Given the description of an element on the screen output the (x, y) to click on. 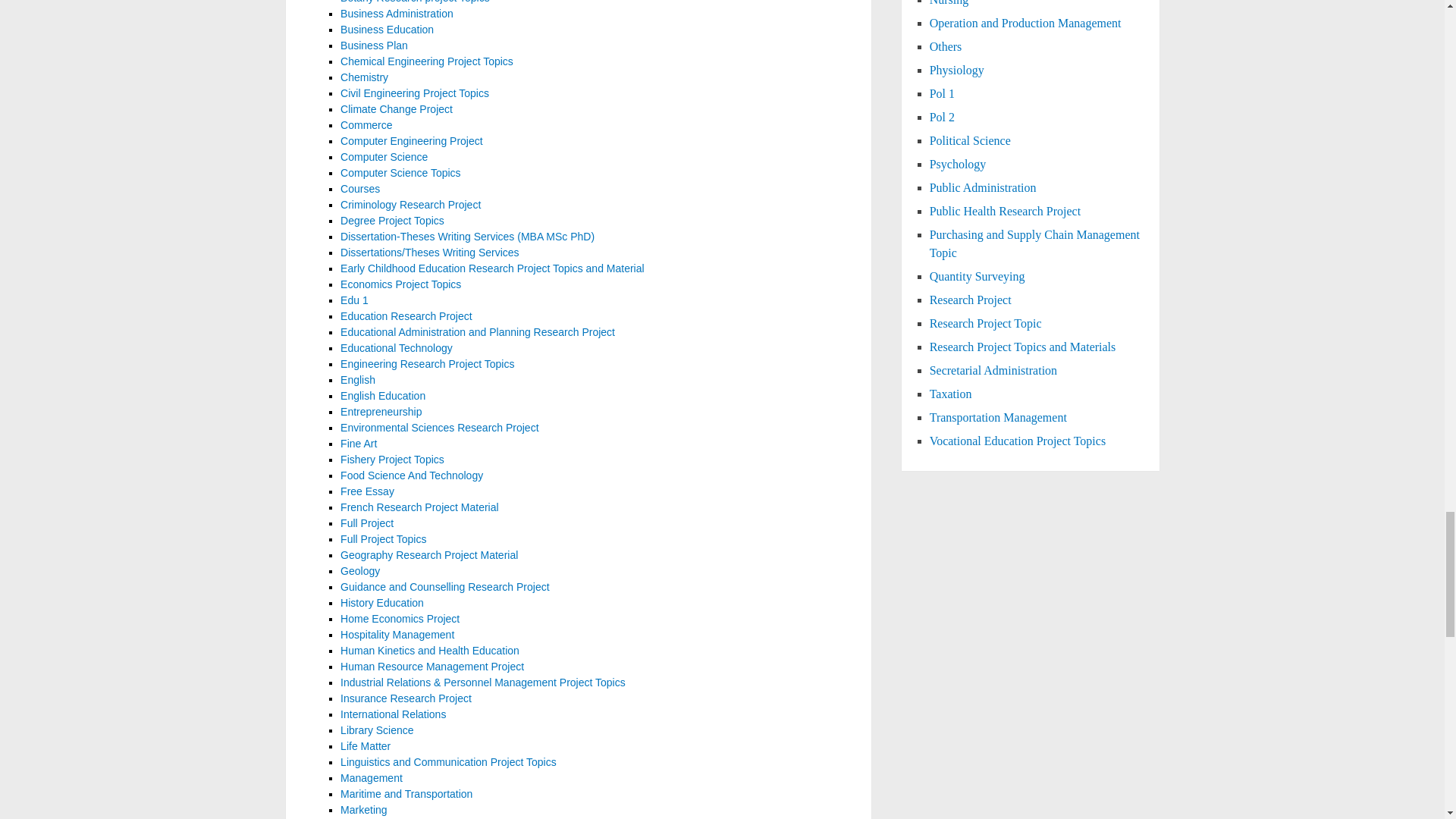
Computer Science (384, 156)
Civil Engineering Project Topics (414, 92)
Commerce (365, 124)
Climate Change Project (396, 109)
Computer Engineering Project (411, 141)
Chemical Engineering Project Topics (426, 61)
Business Plan (373, 45)
Botany Research project Topics (414, 2)
Chemistry (364, 77)
Business Administration (396, 13)
Business Education (386, 29)
Computer Science Topics (400, 173)
